Given the description of an element on the screen output the (x, y) to click on. 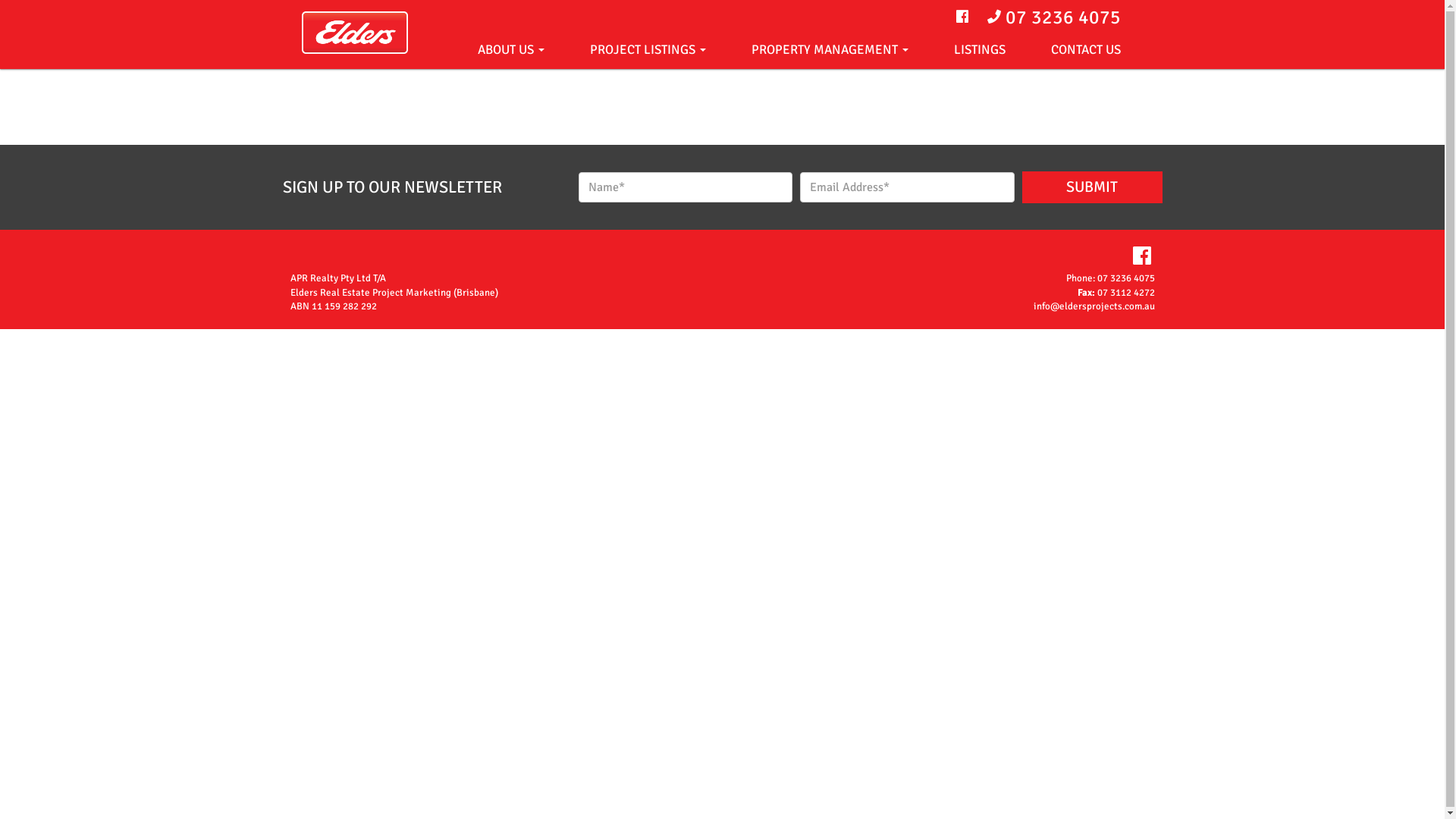
07 3236 4075 Element type: text (1125, 278)
LISTINGS Element type: text (979, 50)
SUBMIT Element type: text (1092, 187)
07 3236 4075 Element type: text (1062, 16)
CONTACT US Element type: text (1085, 50)
info@eldersprojects.com.au Element type: text (1093, 306)
PROJECT LISTINGS Element type: text (647, 50)
PROPERTY MANAGEMENT Element type: text (829, 50)
ABOUT US Element type: text (511, 50)
